Given the description of an element on the screen output the (x, y) to click on. 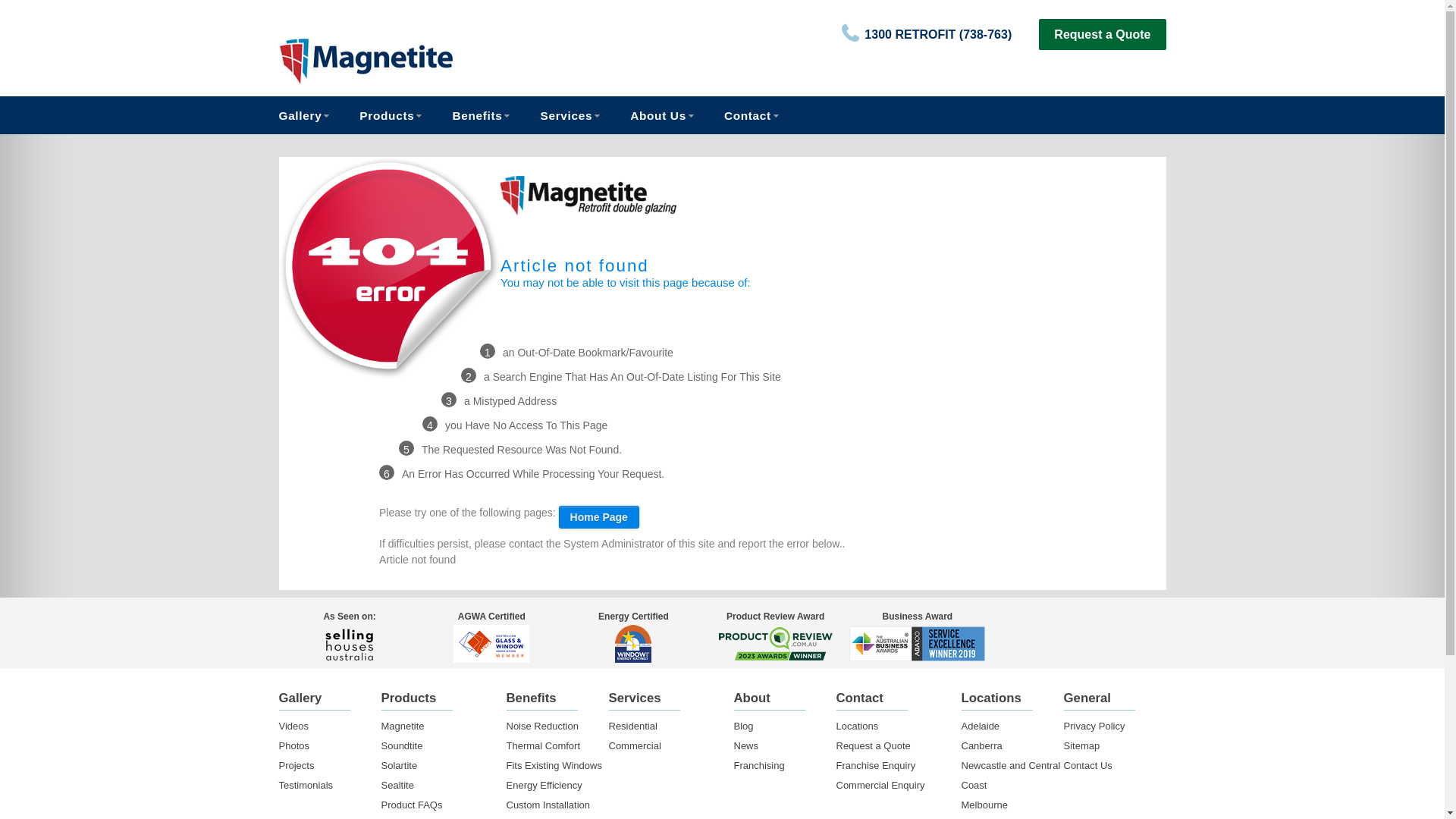
Sealtite Element type: text (396, 784)
Magnetite Element type: hover (419, 60)
Noise Reduction Element type: text (542, 725)
Custom Installation Element type: text (548, 804)
Fits Existing Windows Element type: text (554, 765)
Residential Element type: text (632, 725)
Contact Element type: text (858, 697)
Services Element type: text (634, 697)
Thermal Comfort Element type: text (543, 745)
Product FAQs Element type: text (411, 804)
Privacy Policy Element type: text (1093, 725)
Request a Quote Element type: text (1101, 34)
Request a Quote Element type: text (872, 745)
Home Page Element type: text (598, 516)
Sitemap Element type: text (1081, 745)
About Element type: text (752, 697)
Benefits Element type: text (476, 115)
Locations Element type: text (856, 725)
Products Element type: text (386, 115)
Energy Efficiency Element type: text (544, 784)
Videos Element type: text (294, 725)
Solartite Element type: text (398, 765)
Franchising Element type: text (759, 765)
Magnetite Element type: text (401, 725)
Projects Element type: text (296, 765)
Commercial Enquiry Element type: text (879, 784)
Testimonials Element type: text (306, 784)
Services Element type: text (565, 115)
Melbourne Element type: text (984, 804)
News Element type: text (746, 745)
Blog Element type: text (743, 725)
Contact Element type: text (747, 115)
Franchise Enquiry Element type: text (875, 765)
Commercial Element type: text (634, 745)
Soundtite Element type: text (401, 745)
Canberra Element type: text (981, 745)
Benefits Element type: text (531, 697)
Products Element type: text (408, 697)
About Us Element type: text (658, 115)
Contact Us Element type: text (1087, 765)
Photos Element type: text (294, 745)
Newcastle and Central Coast Element type: text (1010, 774)
Gallery Element type: text (300, 697)
Adelaide Element type: text (980, 725)
Gallery Element type: text (310, 115)
